Given the description of an element on the screen output the (x, y) to click on. 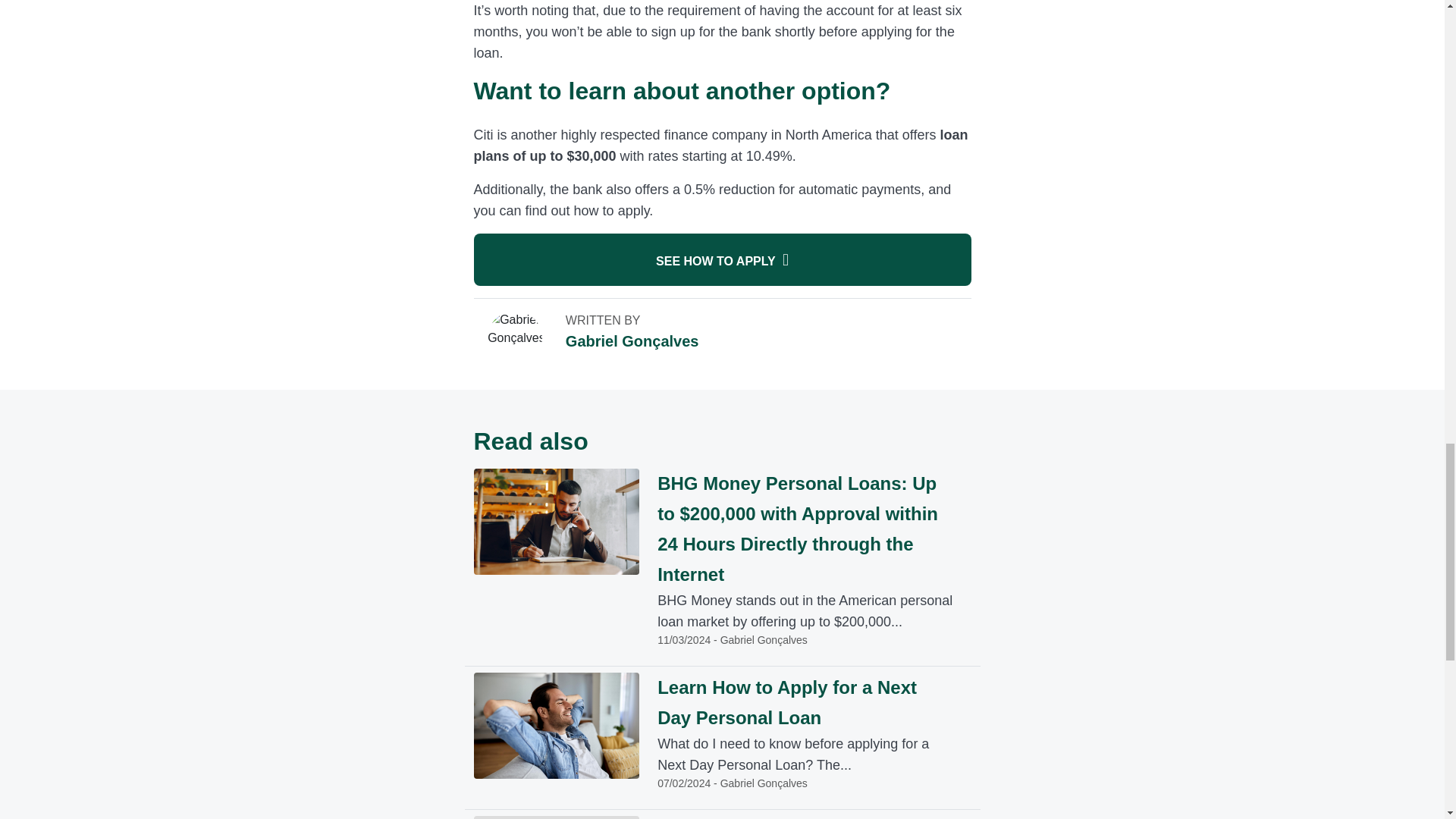
SEE HOW TO APPLY (722, 259)
